Given the description of an element on the screen output the (x, y) to click on. 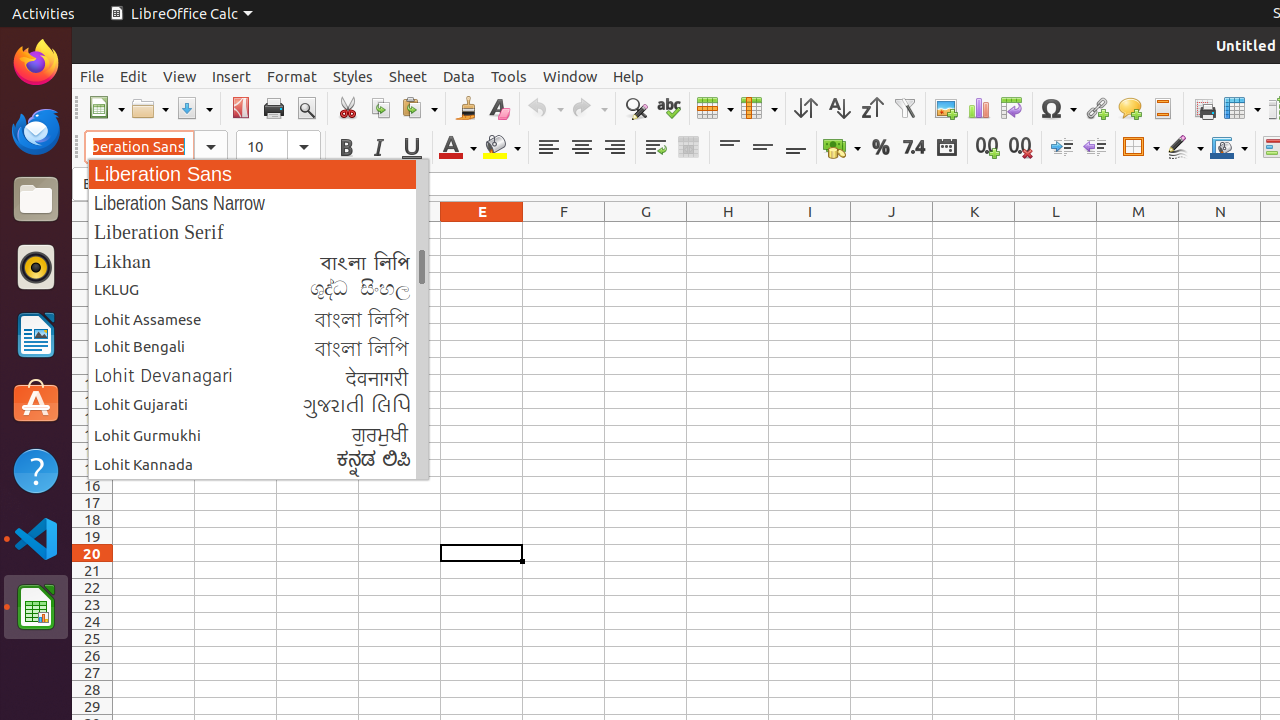
Border Color Element type: push-button (1229, 147)
Insert Element type: menu (231, 76)
Hyperlink Element type: toggle-button (1096, 108)
Align Left Element type: push-button (548, 147)
Align Bottom Element type: push-button (795, 147)
